Given the description of an element on the screen output the (x, y) to click on. 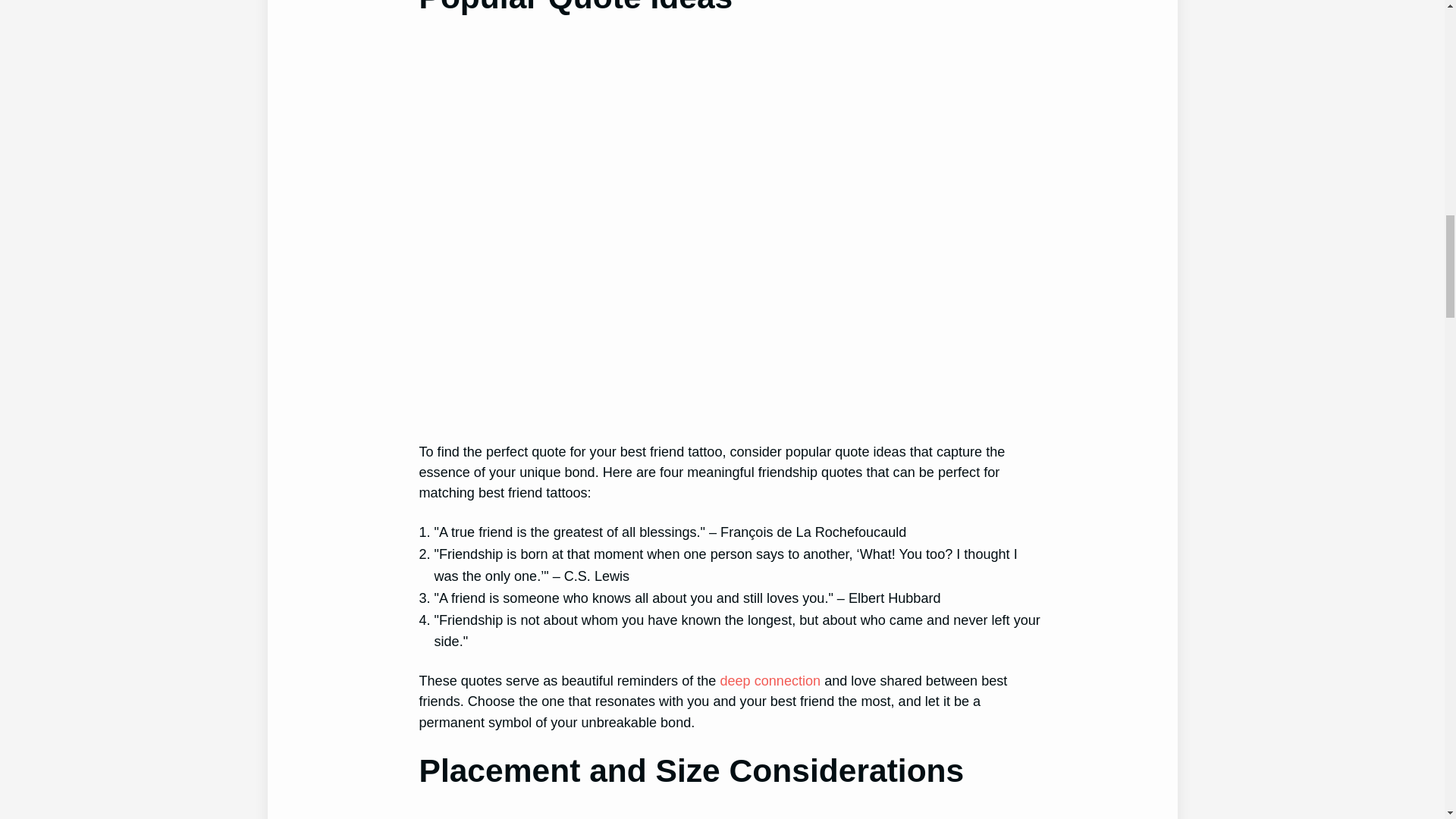
deep connection (770, 680)
deep connection (770, 680)
